Given the description of an element on the screen output the (x, y) to click on. 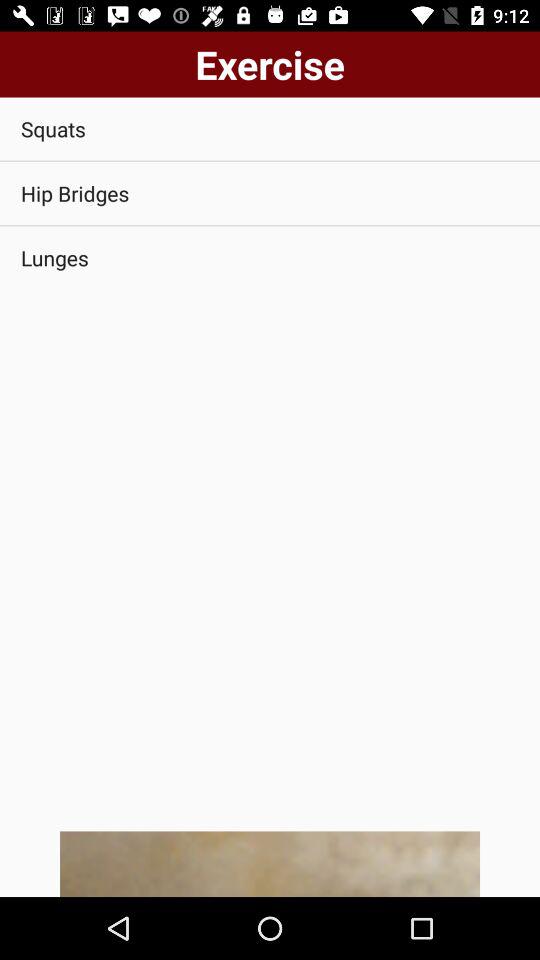
turn off item below lunges (270, 863)
